Given the description of an element on the screen output the (x, y) to click on. 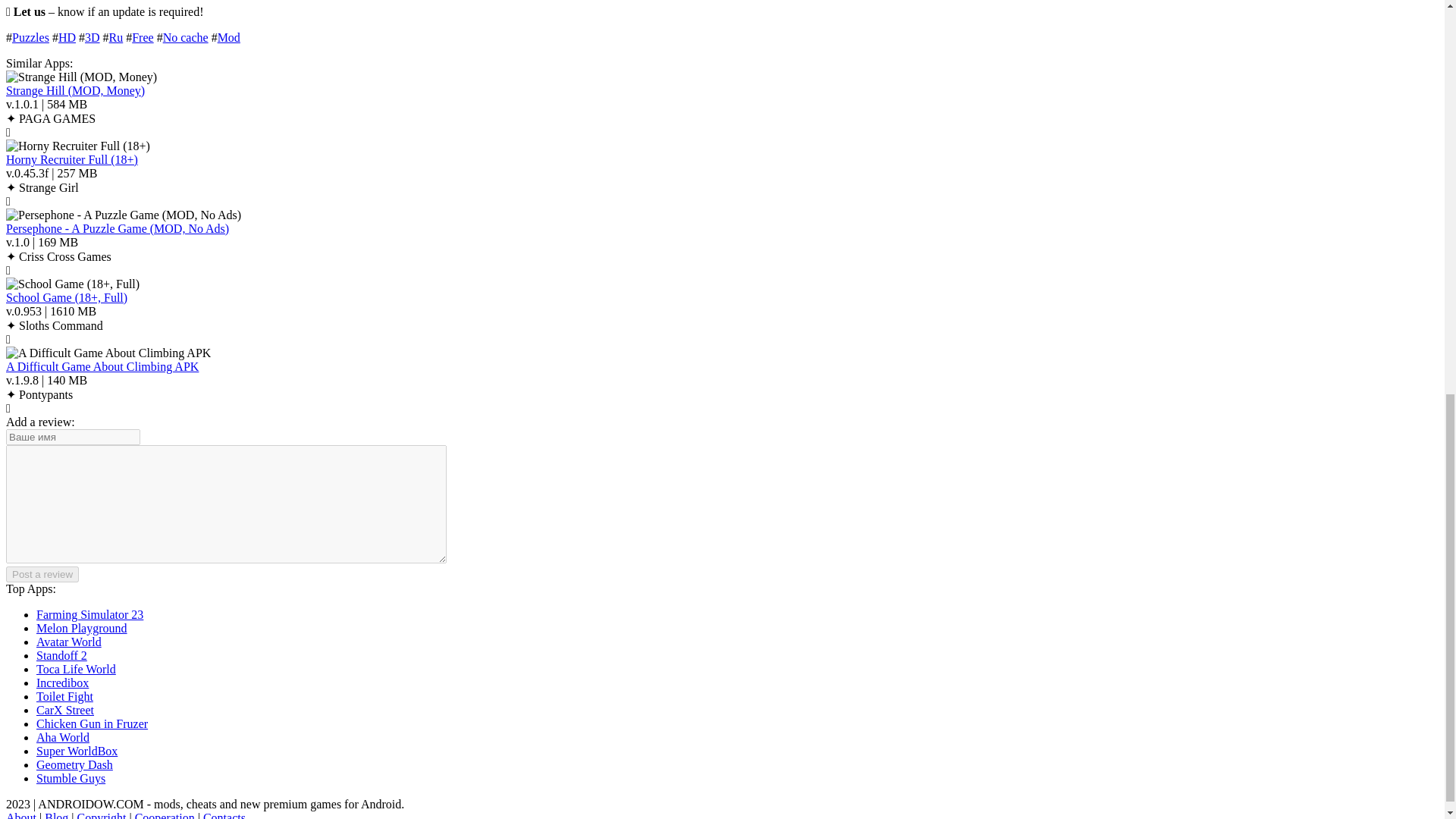
Mod (228, 37)
Melon Playground (82, 627)
CarX Street (65, 709)
Puzzles (30, 37)
HD (66, 37)
Toilet Fight (64, 696)
Ru (116, 37)
Chicken Gun in Fruzer (92, 723)
Aha World (62, 737)
A Difficult Game About Climbing APK (101, 366)
Toca Life World (76, 668)
3D (92, 37)
Free (142, 37)
Super WorldBox (76, 750)
No cache (185, 37)
